Given the description of an element on the screen output the (x, y) to click on. 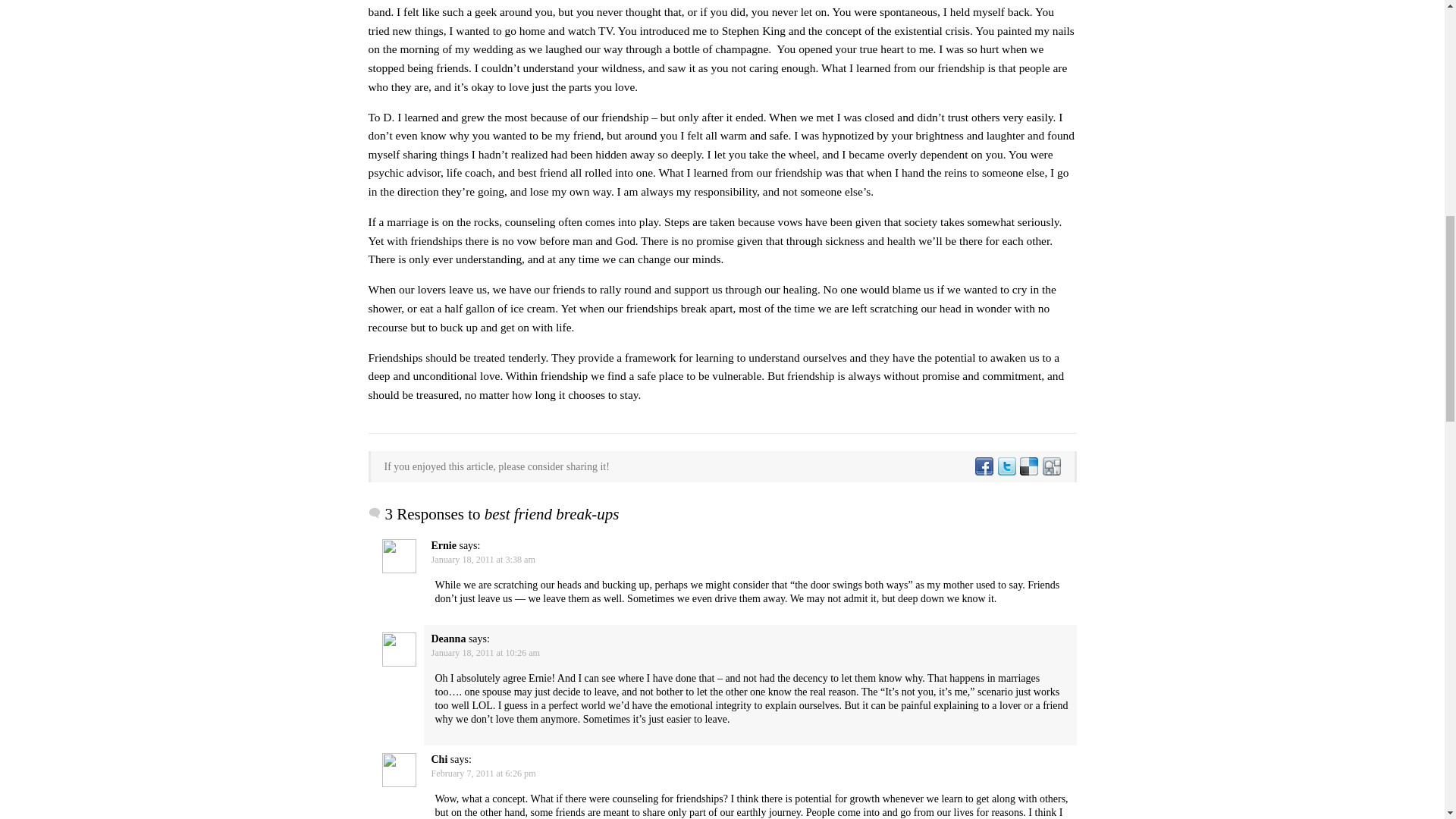
Share on Digg (1050, 466)
Share on Twitter (1005, 466)
January 18, 2011 at 3:38 am (482, 559)
February 7, 2011 at 6:26 pm (482, 773)
January 18, 2011 at 10:26 am (485, 652)
Share on Delicious (1027, 466)
Chi (438, 758)
Share on Facebook (983, 466)
